Given the description of an element on the screen output the (x, y) to click on. 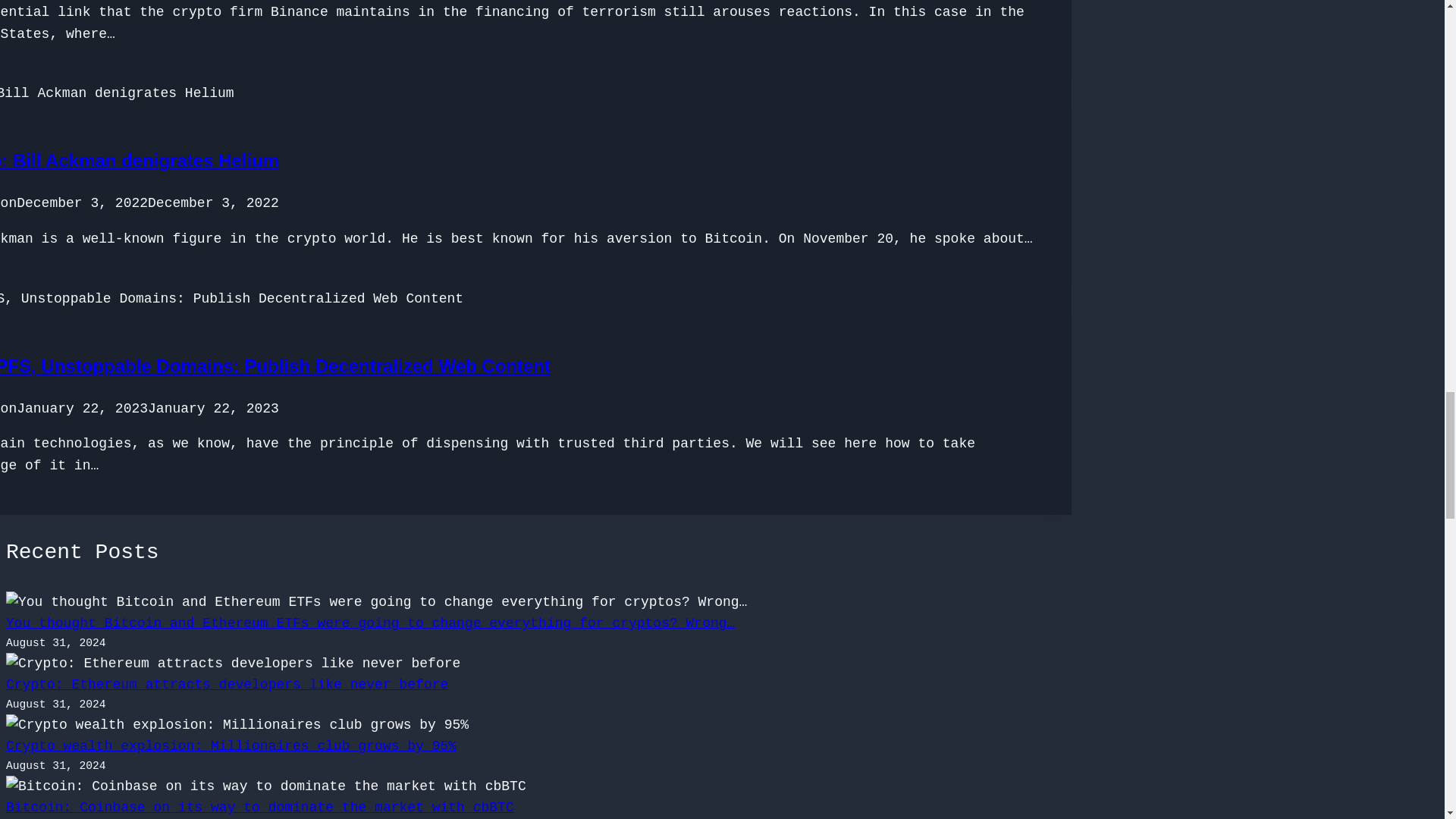
Crypto: Bill Ackman denigrates Helium (139, 159)
Crypto: Ethereum attracts developers like never before (226, 684)
